Given the description of an element on the screen output the (x, y) to click on. 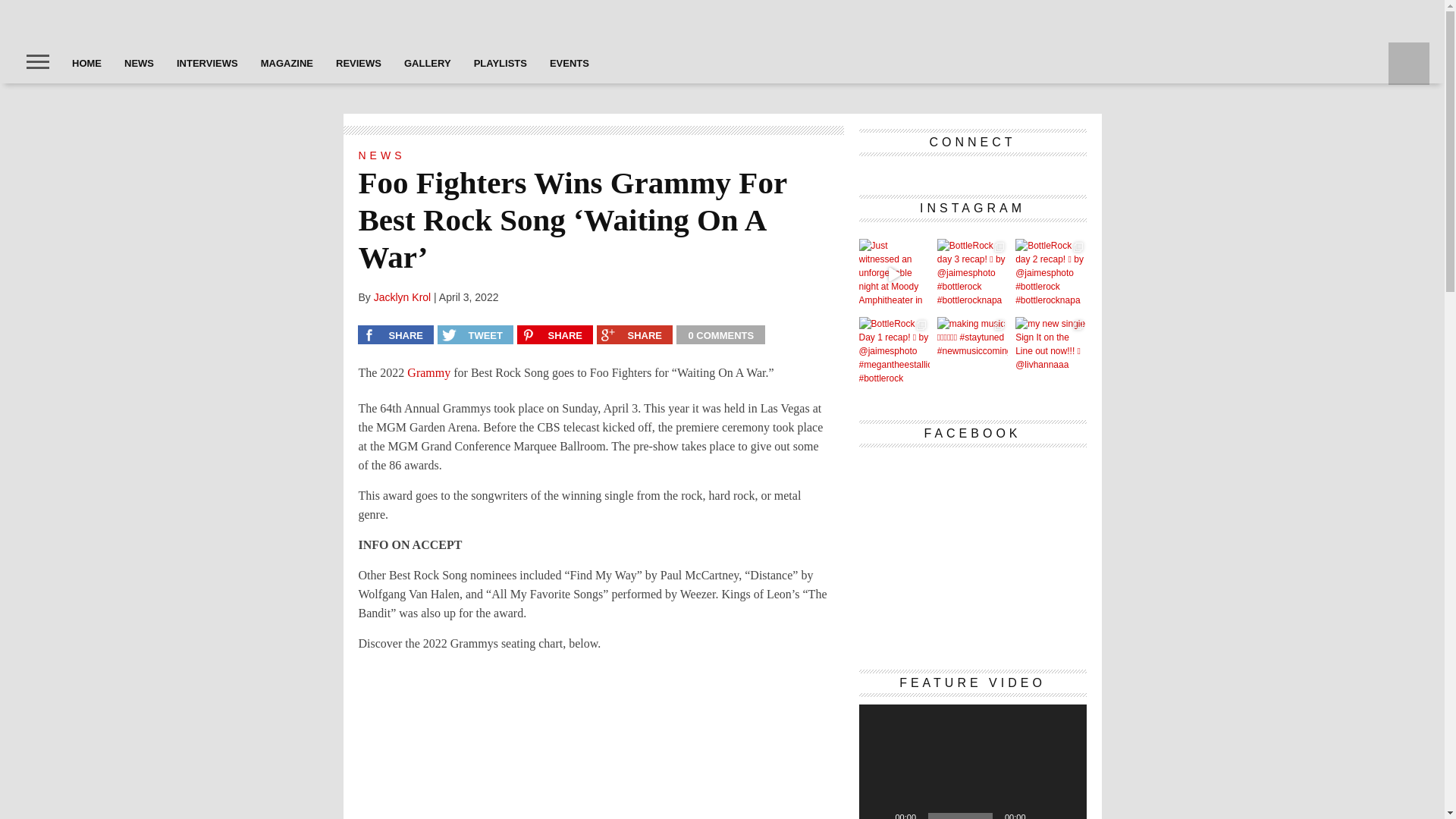
Mute (1041, 814)
Fullscreen (1066, 814)
Posts by Jacklyn Krol (402, 297)
HOME (87, 62)
Play (877, 814)
NEWS (139, 62)
